Given the description of an element on the screen output the (x, y) to click on. 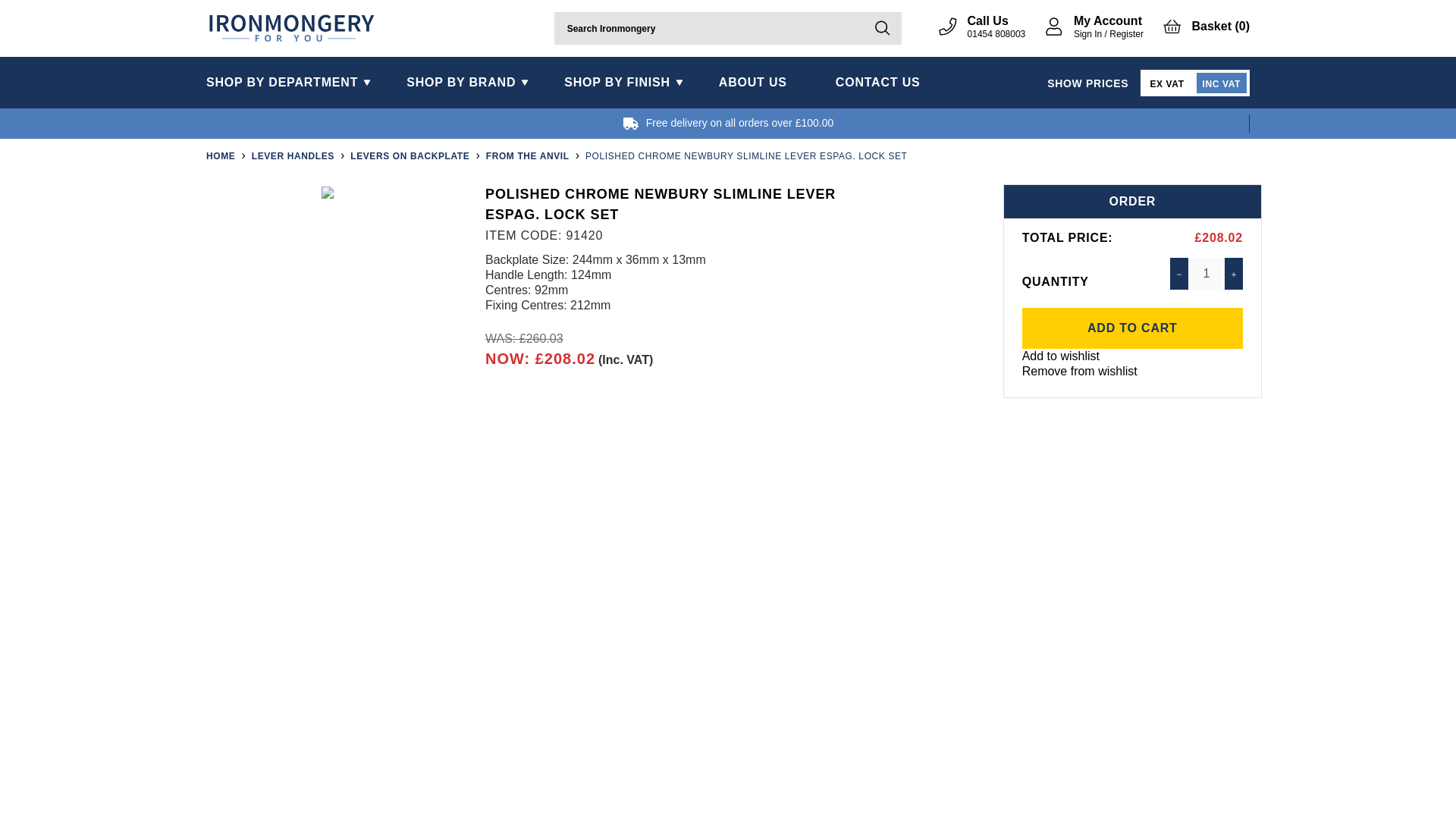
1 (1206, 273)
SHOP BY DEPARTMENT (293, 82)
